Given the description of an element on the screen output the (x, y) to click on. 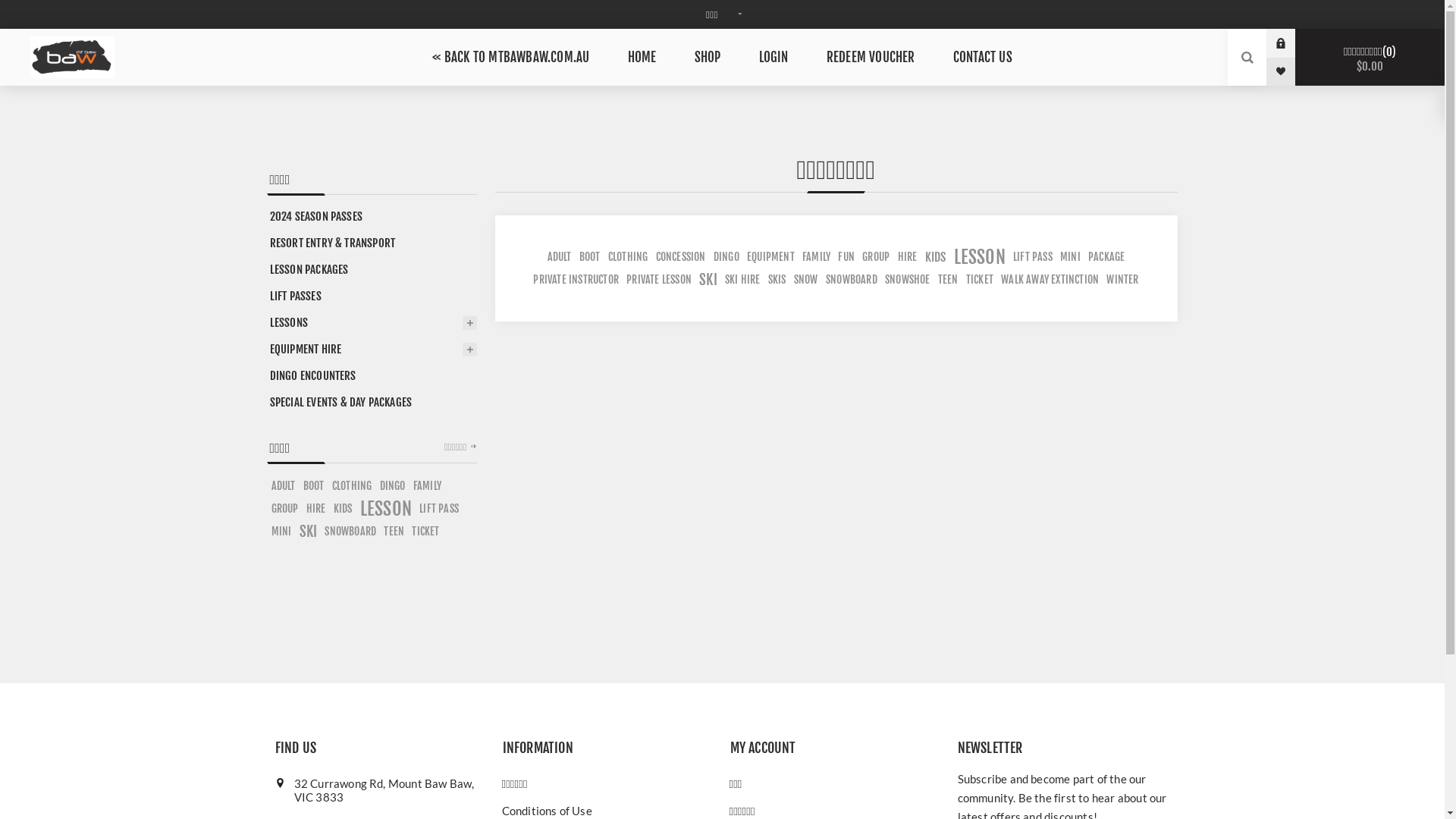
SNOW Element type: text (805, 279)
SKI Element type: text (708, 279)
HOME Element type: text (641, 57)
KIDS Element type: text (342, 508)
<< BACK TO MTBAWBAW.COM.AU Element type: text (510, 57)
DINGO ENCOUNTERS Element type: text (371, 375)
SKIS Element type: text (777, 279)
CLOTHING Element type: text (352, 485)
CONCESSION Element type: text (680, 256)
PRIVATE INSTRUCTOR Element type: text (575, 279)
MINI Element type: text (281, 531)
HIRE Element type: text (316, 508)
FAMILY Element type: text (427, 485)
LIFT PASS Element type: text (1032, 256)
GROUP Element type: text (284, 508)
2024 SEASON PASSES Element type: text (371, 216)
TICKET Element type: text (979, 279)
SPECIAL EVENTS & DAY PACKAGES Element type: text (371, 402)
SKI Element type: text (308, 531)
MINI Element type: text (1070, 256)
CLOTHING Element type: text (628, 256)
HIRE Element type: text (907, 256)
LESSON Element type: text (979, 256)
LOGIN Element type: text (773, 57)
CONTACT US Element type: text (982, 57)
SNOWSHOE Element type: text (907, 279)
LIFT PASSES Element type: text (371, 295)
EQUIPMENT Element type: text (770, 256)
SNOWBOARD Element type: text (350, 531)
SNOWBOARD Element type: text (851, 279)
GROUP Element type: text (875, 256)
TEEN Element type: text (948, 279)
EQUIPMENT HIRE Element type: text (371, 348)
ADULT Element type: text (559, 256)
KIDS Element type: text (935, 256)
PRIVATE LESSON Element type: text (658, 279)
BOOT Element type: text (313, 485)
RESORT ENTRY & TRANSPORT Element type: text (371, 242)
TEEN Element type: text (393, 531)
DINGO Element type: text (392, 485)
SKI HIRE Element type: text (742, 279)
LESSONS Element type: text (371, 322)
LESSON Element type: text (385, 508)
ADULT Element type: text (283, 485)
DINGO Element type: text (726, 256)
TICKET Element type: text (425, 531)
FUN Element type: text (845, 256)
REDEEM VOUCHER Element type: text (870, 57)
FAMILY Element type: text (816, 256)
PACKAGE Element type: text (1106, 256)
LESSON PACKAGES Element type: text (371, 269)
WINTER Element type: text (1122, 279)
WALK AWAY EXTINCTION Element type: text (1049, 279)
LIFT PASS Element type: text (438, 508)
BOOT Element type: text (589, 256)
